Given the description of an element on the screen output the (x, y) to click on. 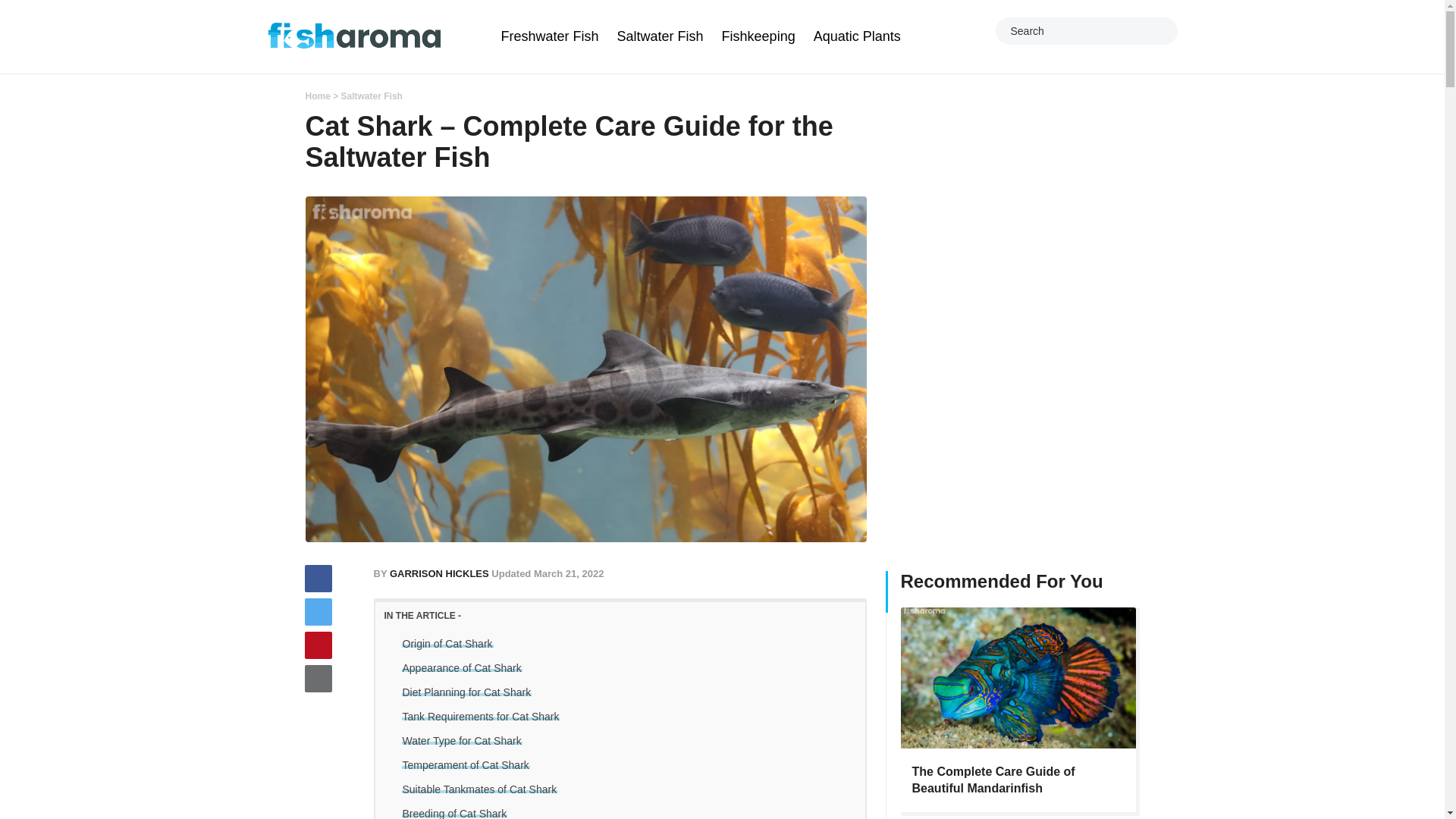
Appearance of Cat Shark (461, 670)
Breeding of Cat Shark (454, 813)
Share on Pinterest (317, 645)
GARRISON HICKLES (438, 573)
Origin of Cat Shark (447, 645)
The Complete Care Guide of Beautiful Mandarinfish (1018, 677)
Water Type for Cat Shark (461, 743)
The Complete Care Guide of Beautiful Mandarinfish (992, 779)
Tank Requirements for Cat Shark (480, 718)
Diet Planning for Cat Shark (466, 694)
